Given the description of an element on the screen output the (x, y) to click on. 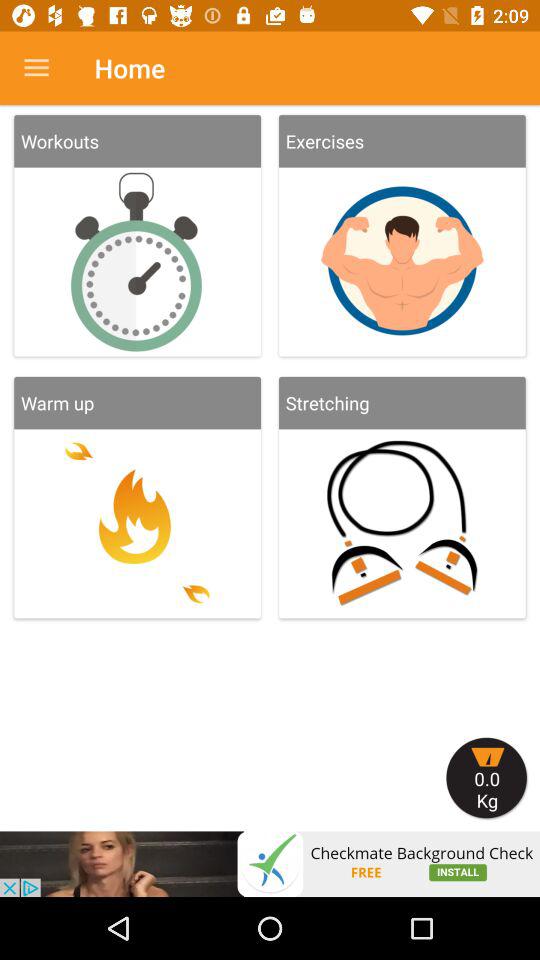
advateshment (270, 864)
